Given the description of an element on the screen output the (x, y) to click on. 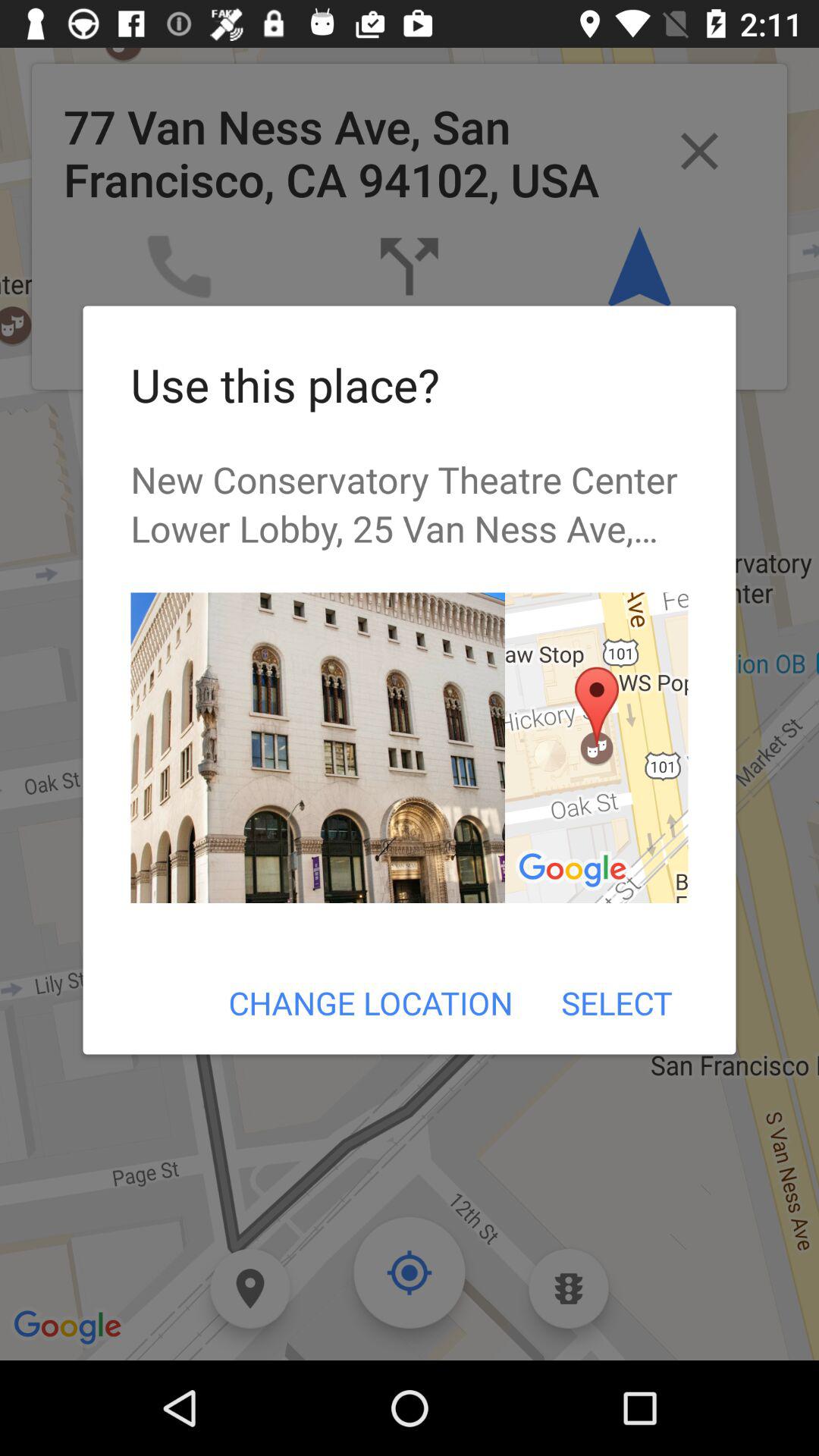
press select item (616, 1002)
